Given the description of an element on the screen output the (x, y) to click on. 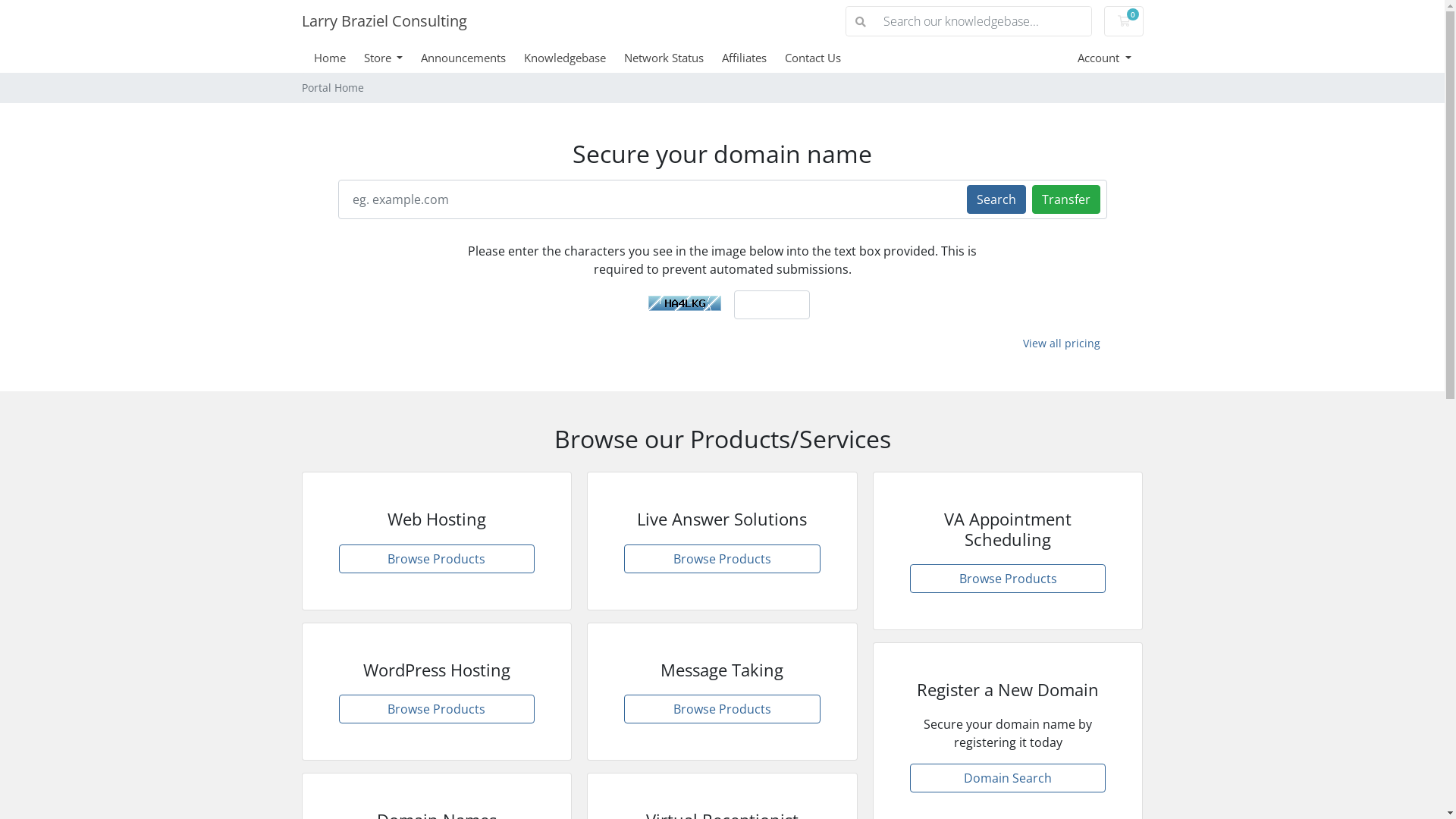
Store Element type: text (392, 57)
Account Element type: text (1104, 57)
Browse Products Element type: text (722, 708)
0
Shopping Cart Element type: text (1123, 21)
Knowledgebase Element type: text (574, 57)
Transfer Element type: text (1065, 199)
Browse Products Element type: text (1008, 578)
Announcements Element type: text (472, 57)
Search Element type: text (995, 199)
Larry Braziel Consulting Element type: text (384, 21)
Required Element type: hover (771, 304)
Browse Products Element type: text (436, 708)
Home Element type: text (338, 57)
Affiliates Element type: text (752, 57)
Network Status Element type: text (672, 57)
Contact Us Element type: text (821, 57)
View all pricing Element type: text (1061, 342)
Browse Products Element type: text (436, 558)
Browse Products Element type: text (722, 558)
Domain Search Element type: text (1008, 777)
